Given the description of an element on the screen output the (x, y) to click on. 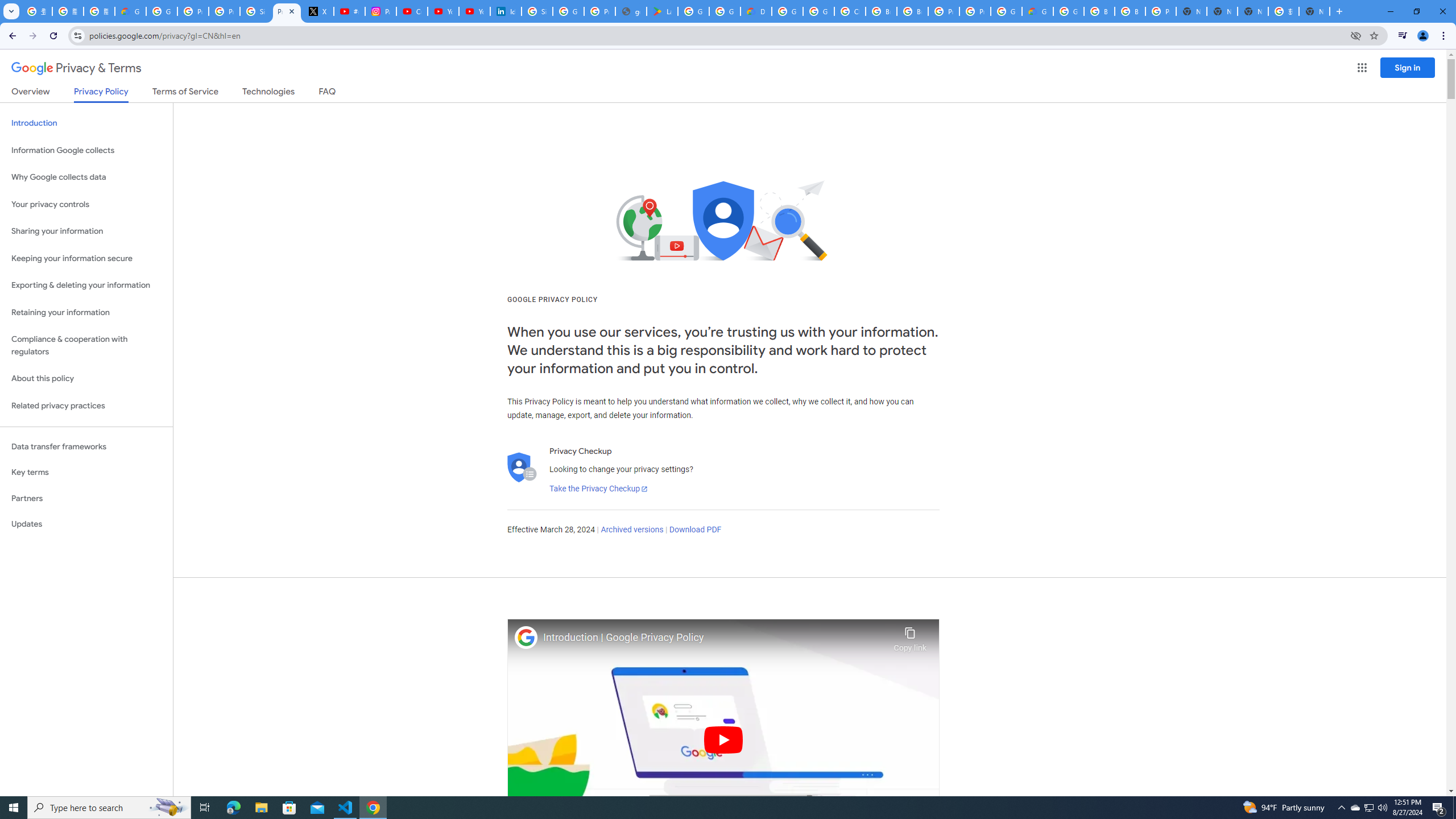
Google Cloud Platform (1005, 11)
Google Cloud Platform (787, 11)
Exporting & deleting your information (86, 284)
Download PDF (695, 529)
Sign in - Google Accounts (536, 11)
